Given the description of an element on the screen output the (x, y) to click on. 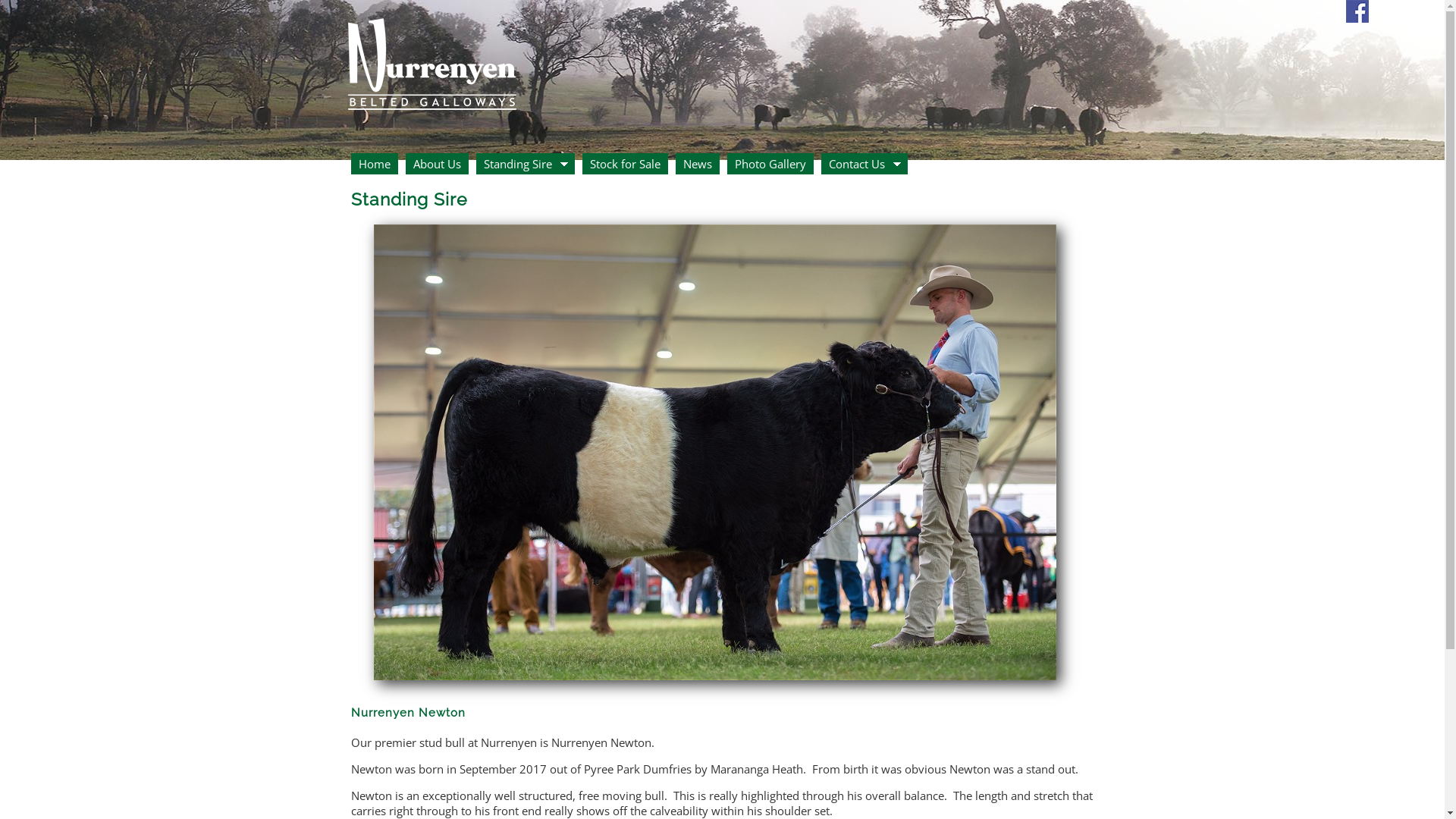
News Element type: text (696, 163)
Photo Gallery Element type: text (769, 163)
Nurrenyen logo Element type: hover (430, 58)
Stock for Sale Element type: text (625, 163)
About Us Element type: text (435, 163)
Home Element type: text (373, 163)
